Given the description of an element on the screen output the (x, y) to click on. 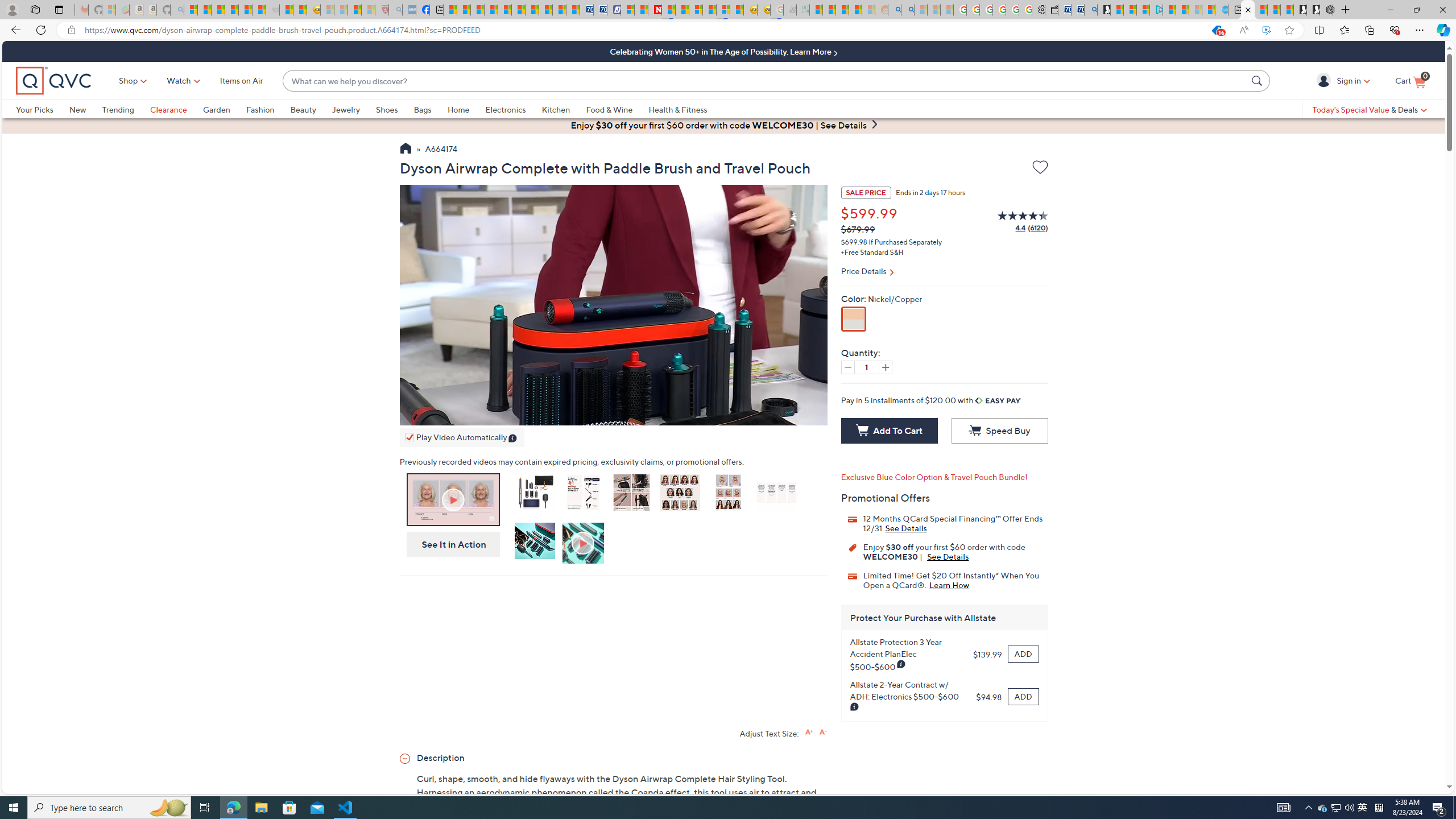
Celebrating Women 50+ in The Age of Possibility. Learn More (723, 51)
Unmute (777, 413)
Trending (117, 109)
Trending (125, 109)
SALE PRICE (865, 192)
Stocks - MSN (258, 9)
12 Months QCard Special Financing Offer Ends 12/31 (906, 527)
Price Details (944, 272)
